Given the description of an element on the screen output the (x, y) to click on. 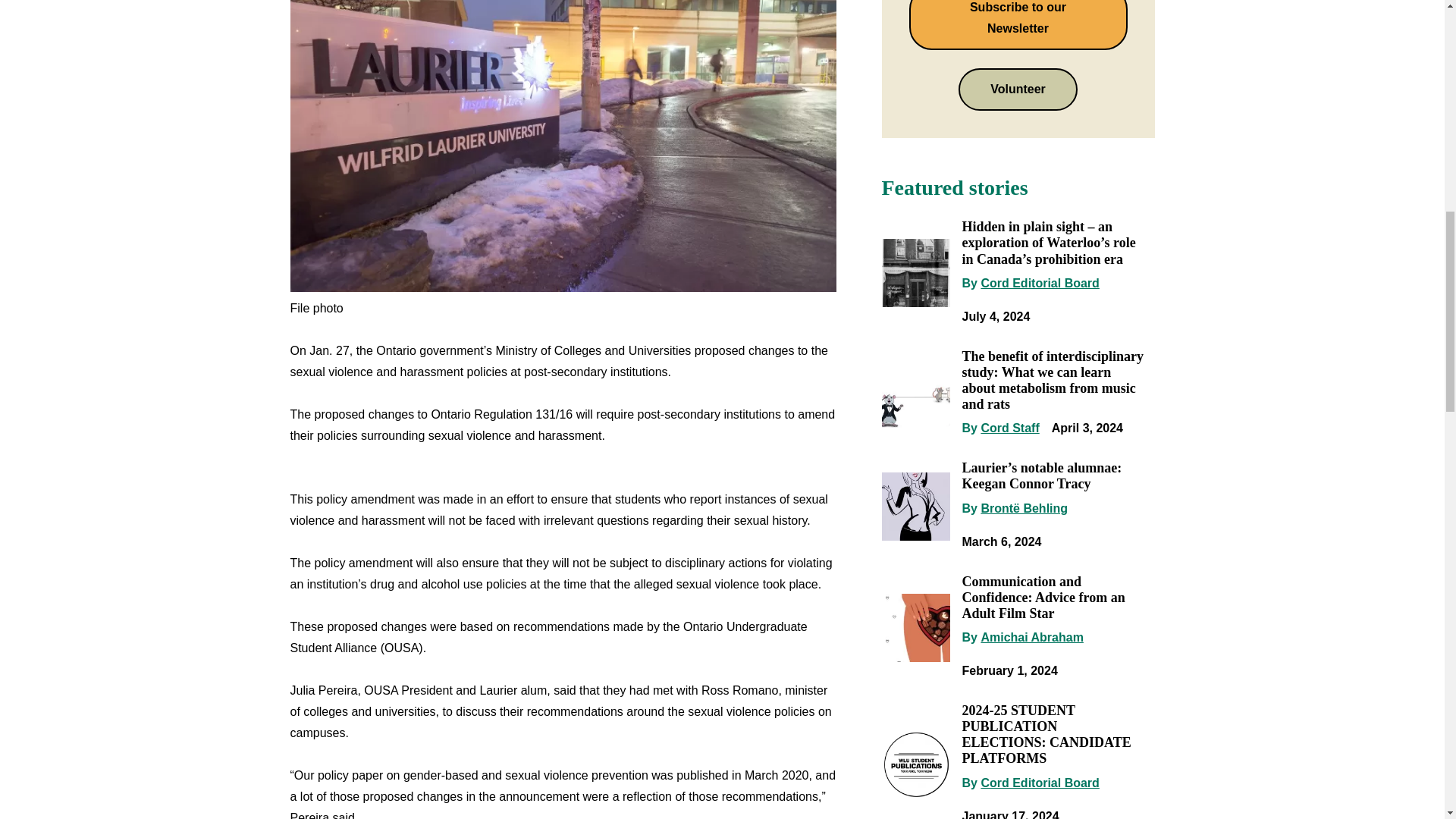
Posts by Cord Editorial Board (1039, 282)
Posts by Cord Staff (1009, 427)
Posts by Cord Editorial Board (1039, 782)
Posts by Amichai Abraham (1031, 636)
